Given the description of an element on the screen output the (x, y) to click on. 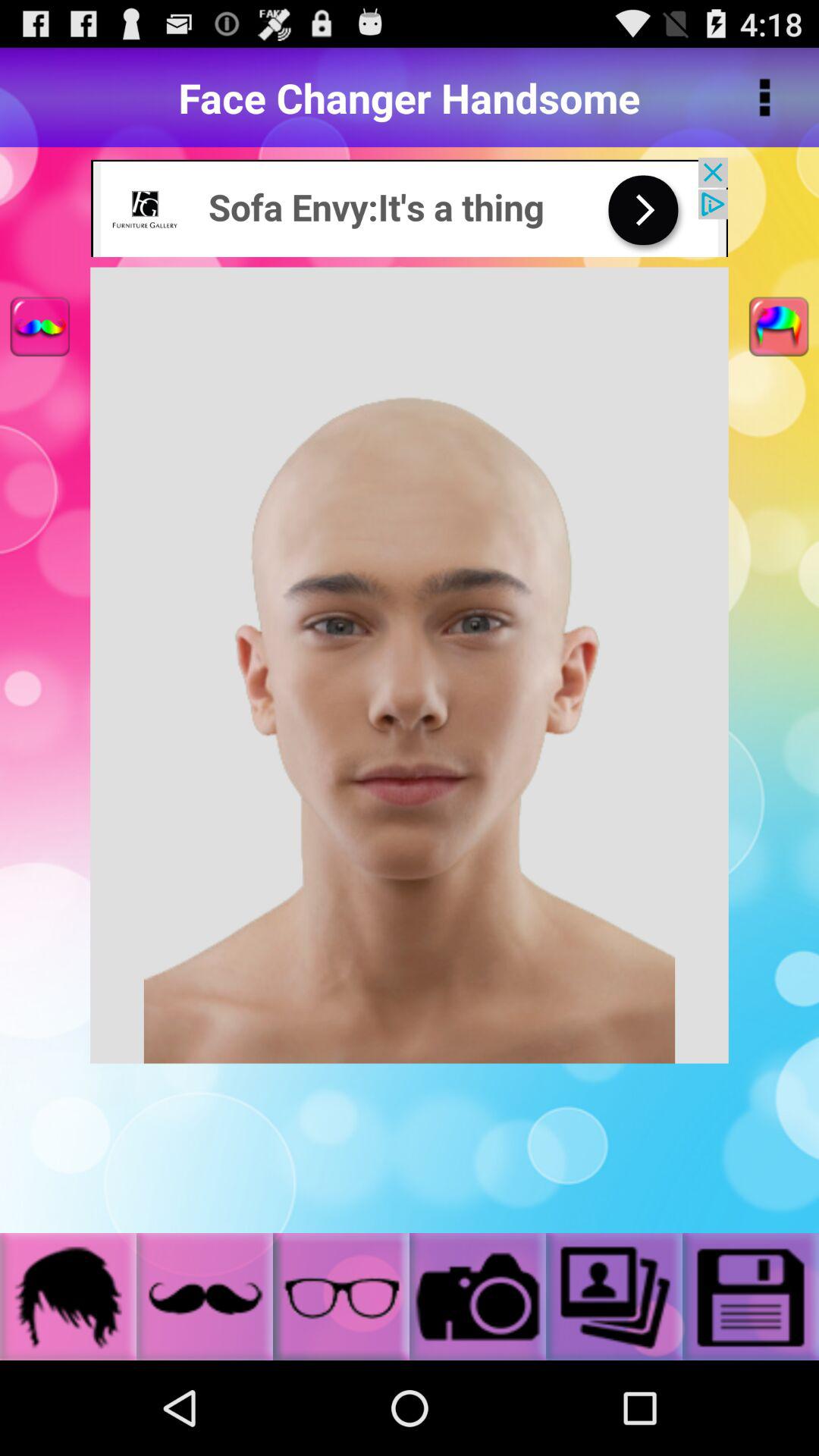
camera (477, 1296)
